Given the description of an element on the screen output the (x, y) to click on. 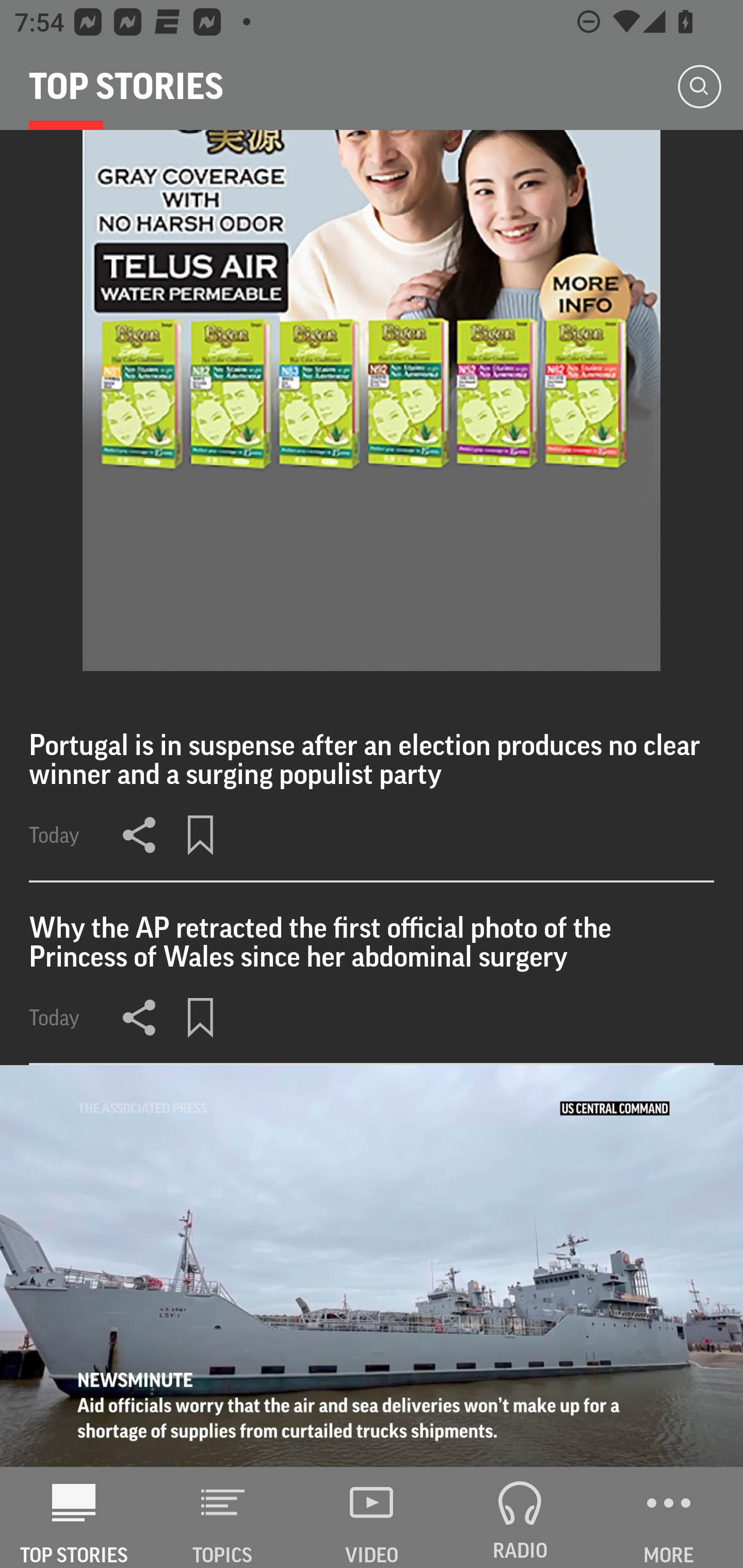
8 (371, 400)
toggle controls (371, 1265)
AP News TOP STORIES (74, 1517)
TOPICS (222, 1517)
VIDEO (371, 1517)
RADIO (519, 1517)
MORE (668, 1517)
